Given the description of an element on the screen output the (x, y) to click on. 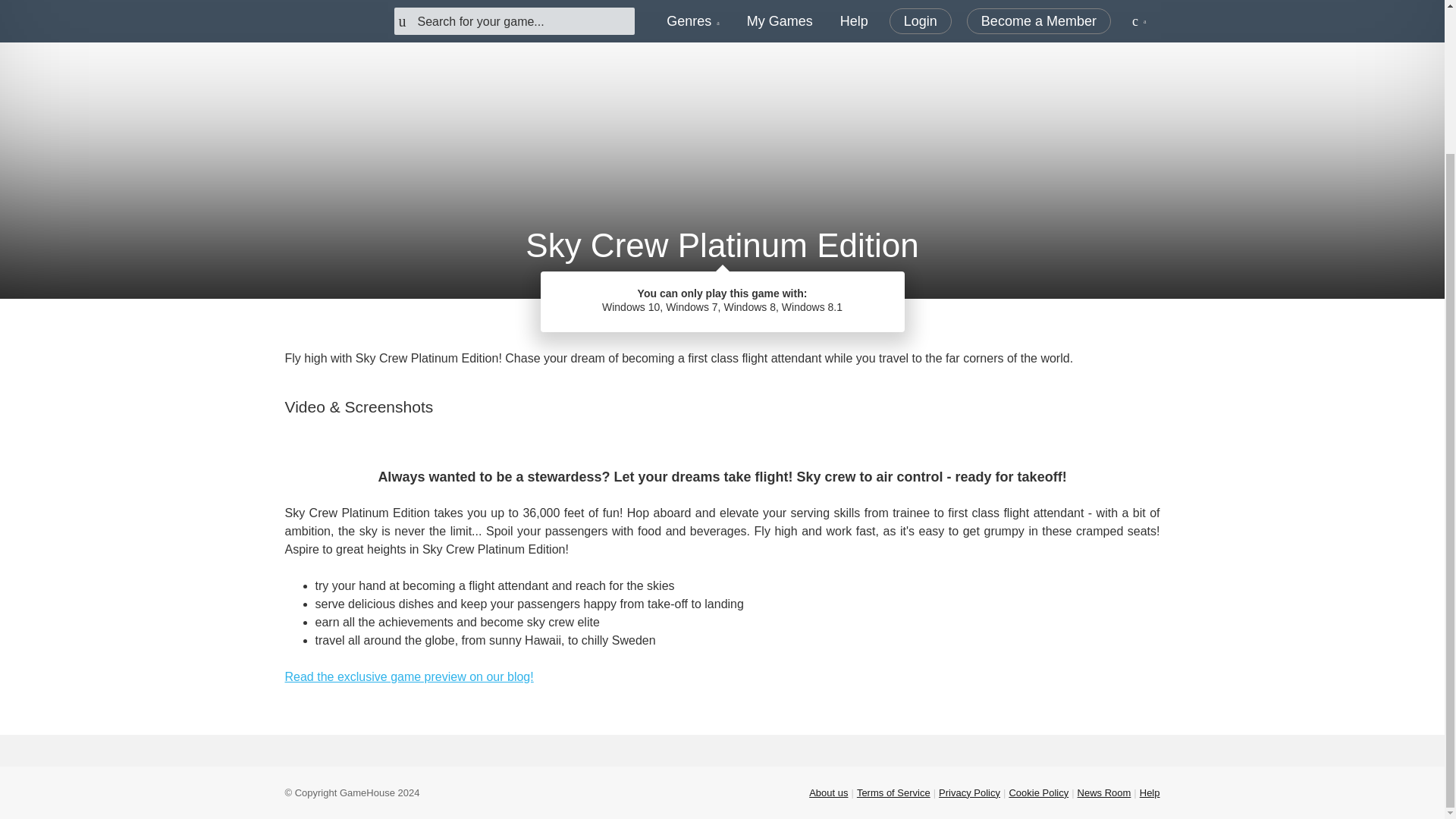
Windows Games (775, 320)
Time Management (658, 320)
Terms of Service (893, 792)
Read the exclusive game preview on our blog! (409, 676)
Cookie Policy (1038, 792)
Help (1150, 792)
About us (828, 792)
News Room (1104, 792)
Privacy Policy (969, 792)
Help (1150, 792)
